Given the description of an element on the screen output the (x, y) to click on. 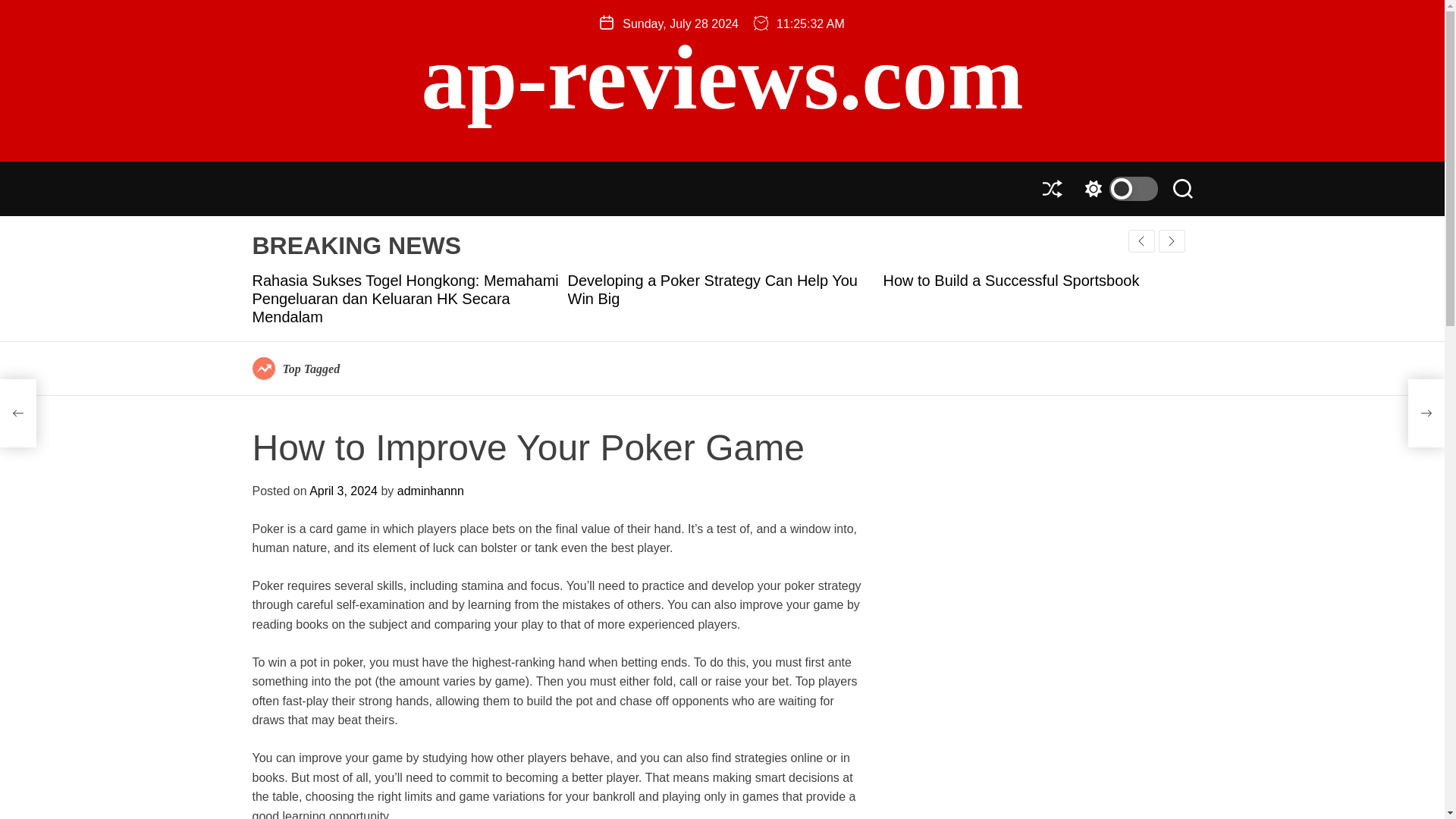
How to Build a Successful Sportsbook (1010, 280)
adminhannn (430, 490)
ap-reviews.com (721, 77)
Developing a Poker Strategy Can Help You Win Big (712, 289)
April 3, 2024 (342, 490)
Switch color mode (1117, 188)
